Given the description of an element on the screen output the (x, y) to click on. 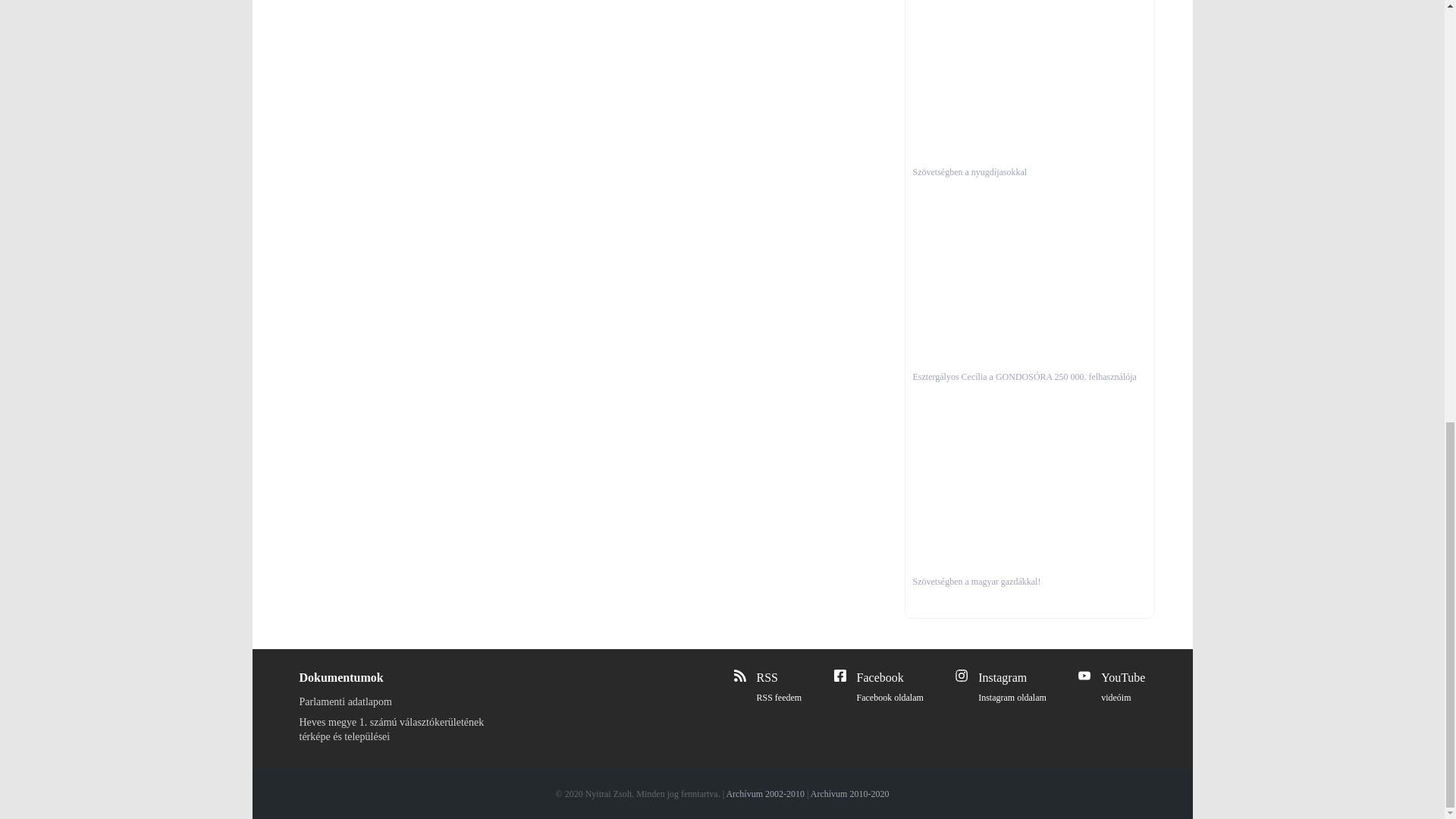
Parlamenti adatlapom (395, 701)
